Given the description of an element on the screen output the (x, y) to click on. 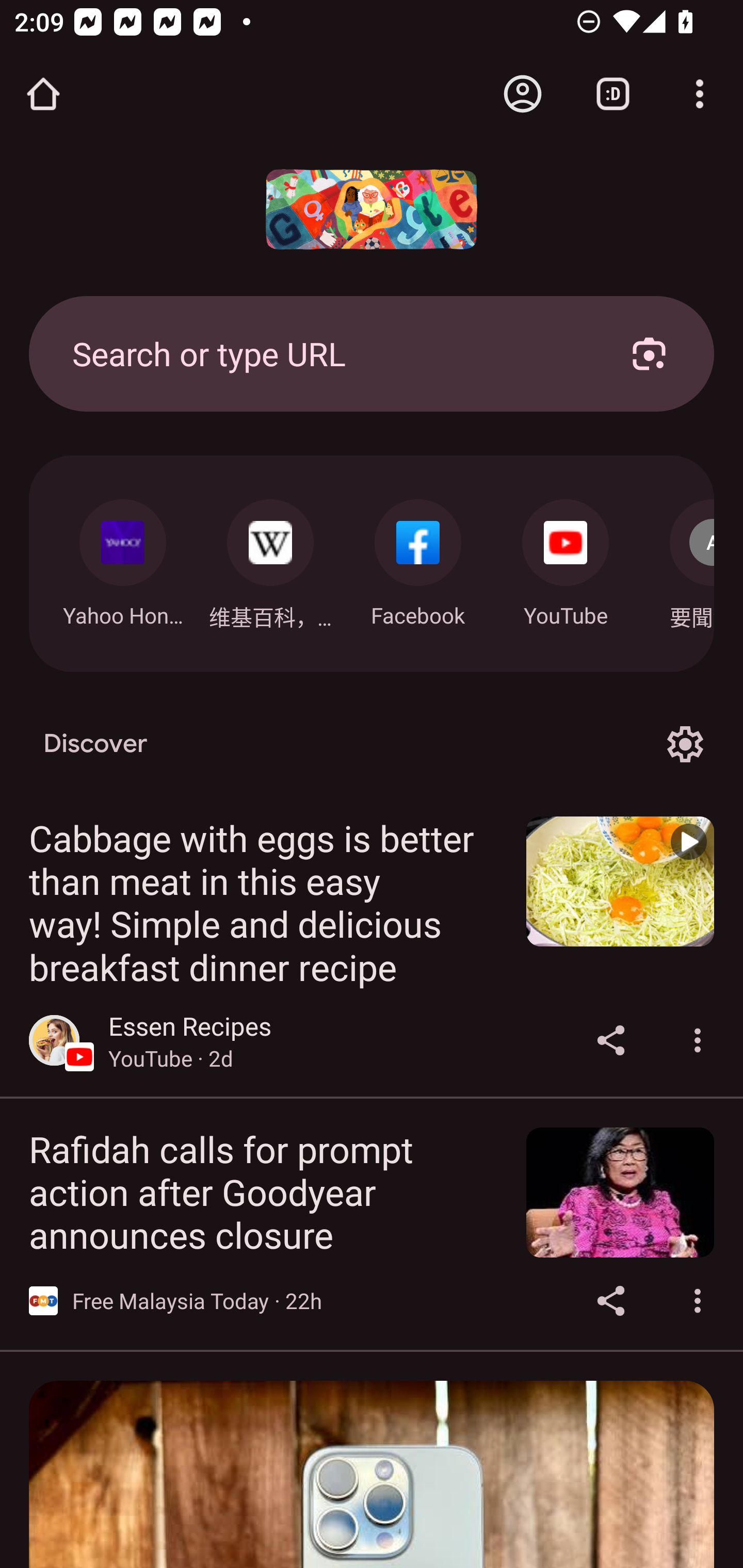
Open the home page (43, 93)
Switch or close tabs (612, 93)
Customize and control Google Chrome (699, 93)
Google doodle: 2024 年國際婦女節 (371, 209)
Search or type URL (327, 353)
Search with your camera using Google Lens (648, 353)
Navigate: Facebook: m.facebook.com Facebook (417, 558)
Navigate: YouTube: m.youtube.com YouTube (565, 558)
Options for Discover (684, 743)
